Given the description of an element on the screen output the (x, y) to click on. 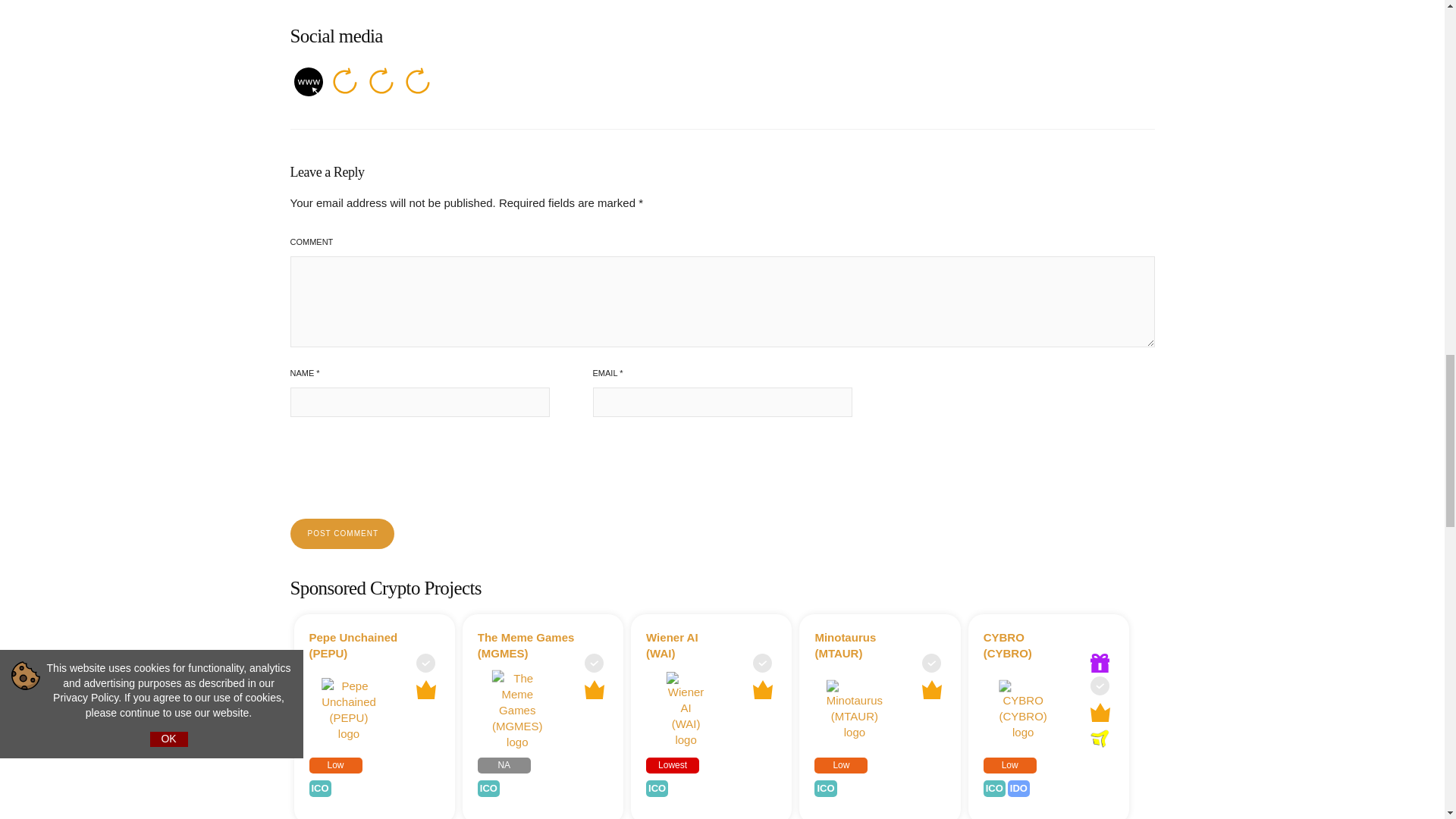
Not Confirmed (425, 662)
Post Comment (341, 533)
